Given the description of an element on the screen output the (x, y) to click on. 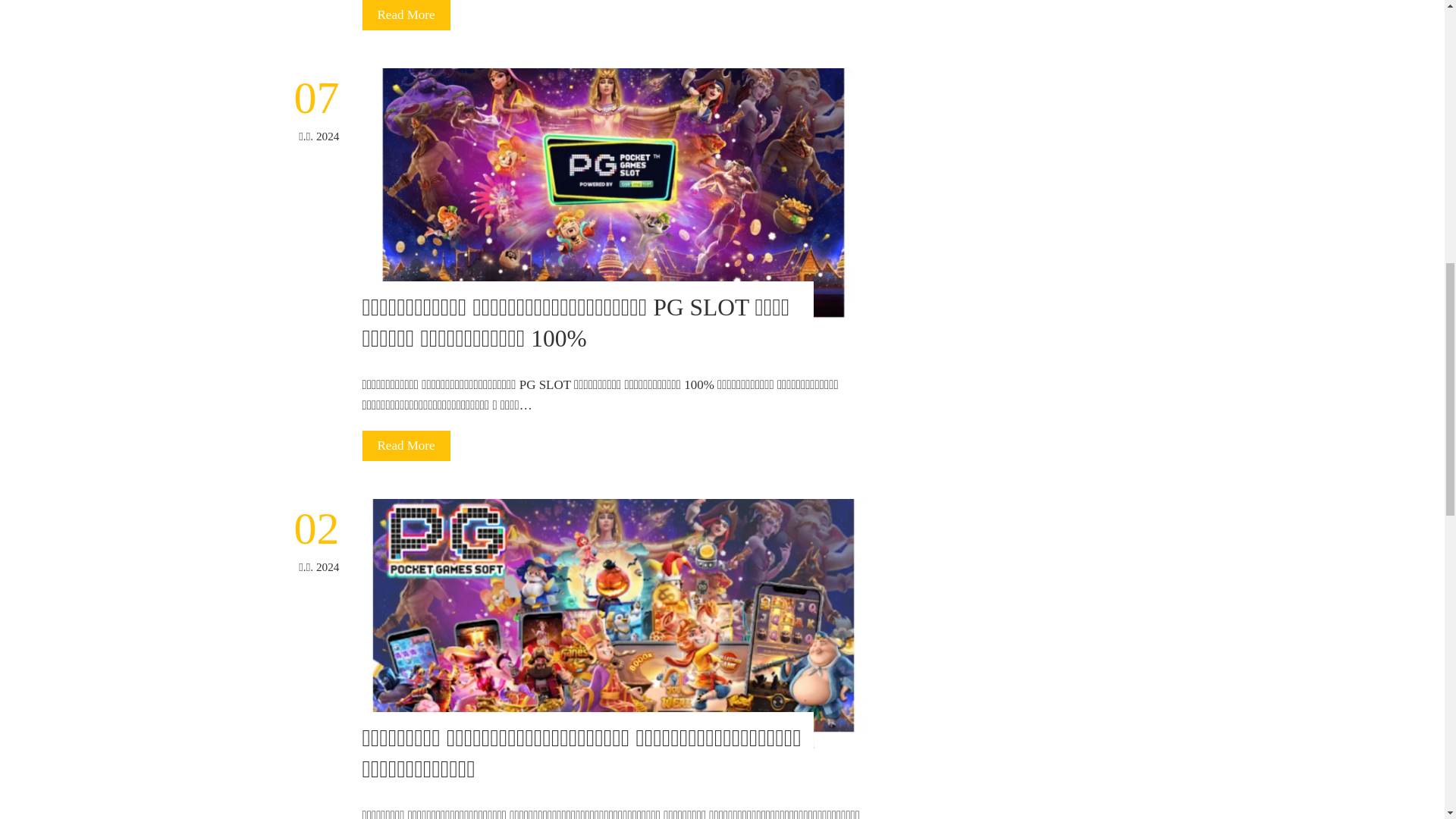
Read More (405, 445)
Read More (405, 15)
